Given the description of an element on the screen output the (x, y) to click on. 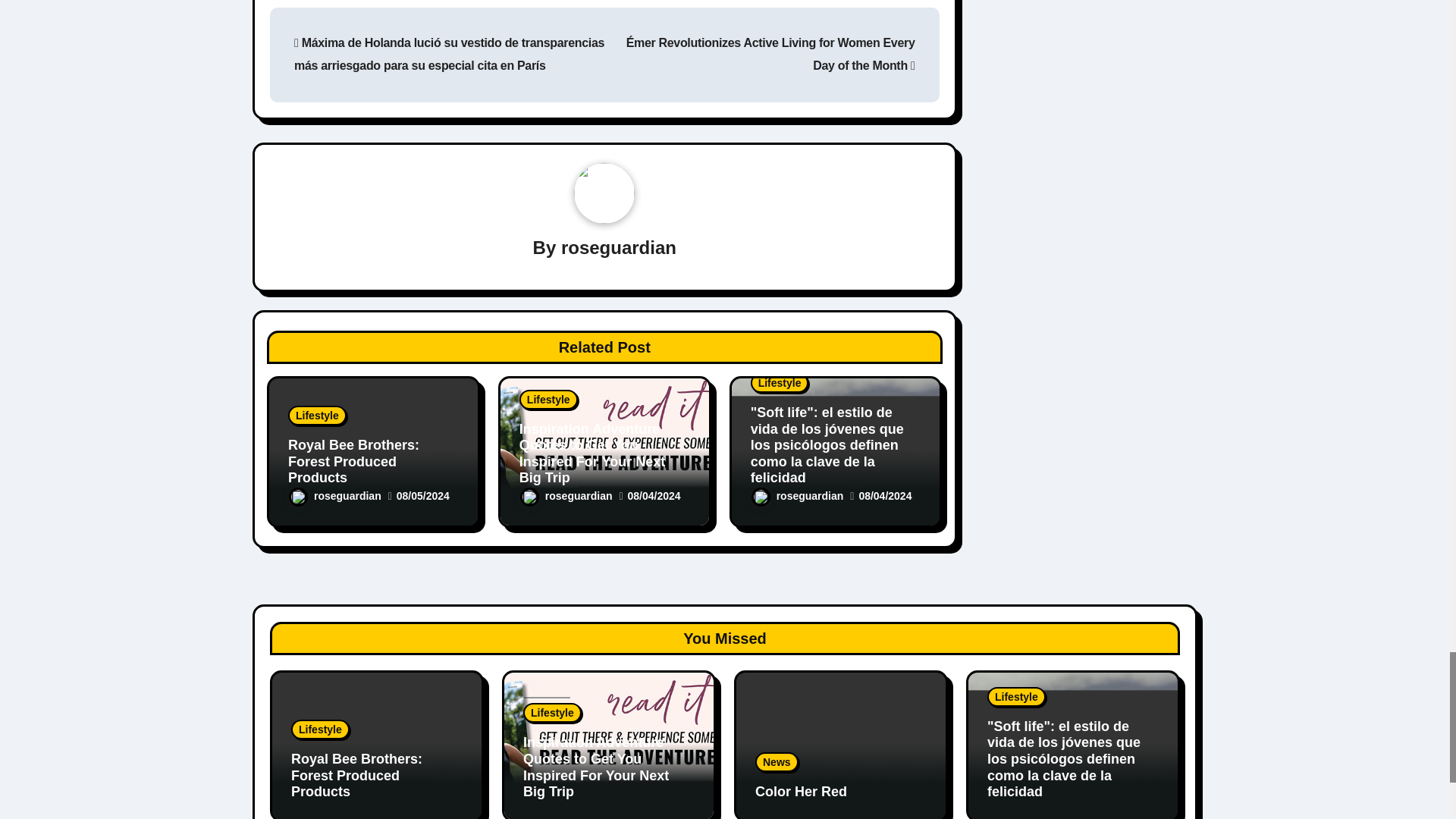
Permalink to: Royal Bee Brothers: Forest Produced Products (356, 775)
Permalink to: Royal Bee Brothers: Forest Produced Products (353, 461)
